Given the description of an element on the screen output the (x, y) to click on. 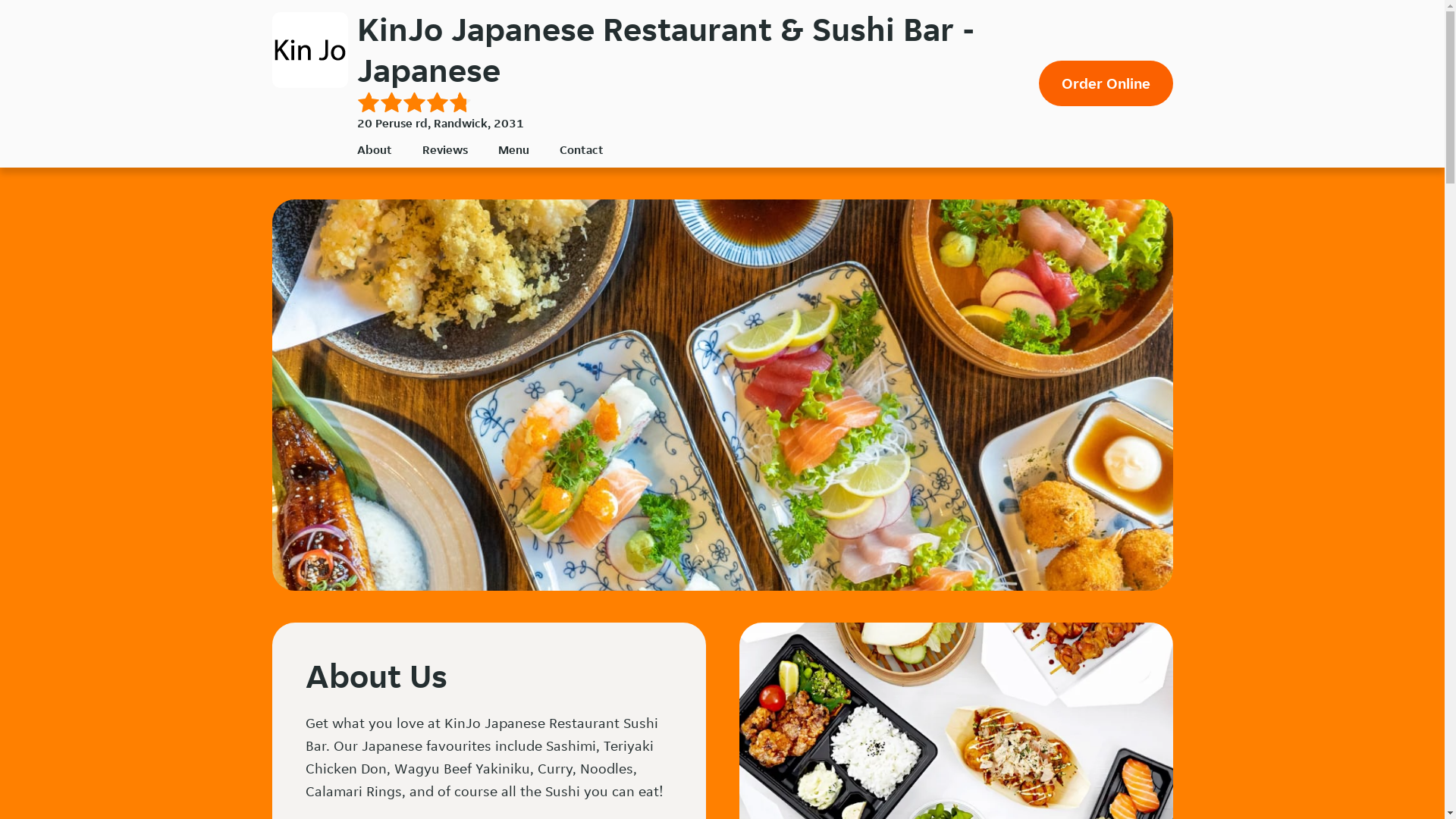
About Element type: text (373, 149)
Reviews Element type: text (444, 149)
Menu Element type: text (512, 149)
Order Online Element type: text (1105, 83)
Contact Element type: text (581, 149)
KinJo Japanese Restaurant & Sushi Bar Element type: hover (309, 49)
